Given the description of an element on the screen output the (x, y) to click on. 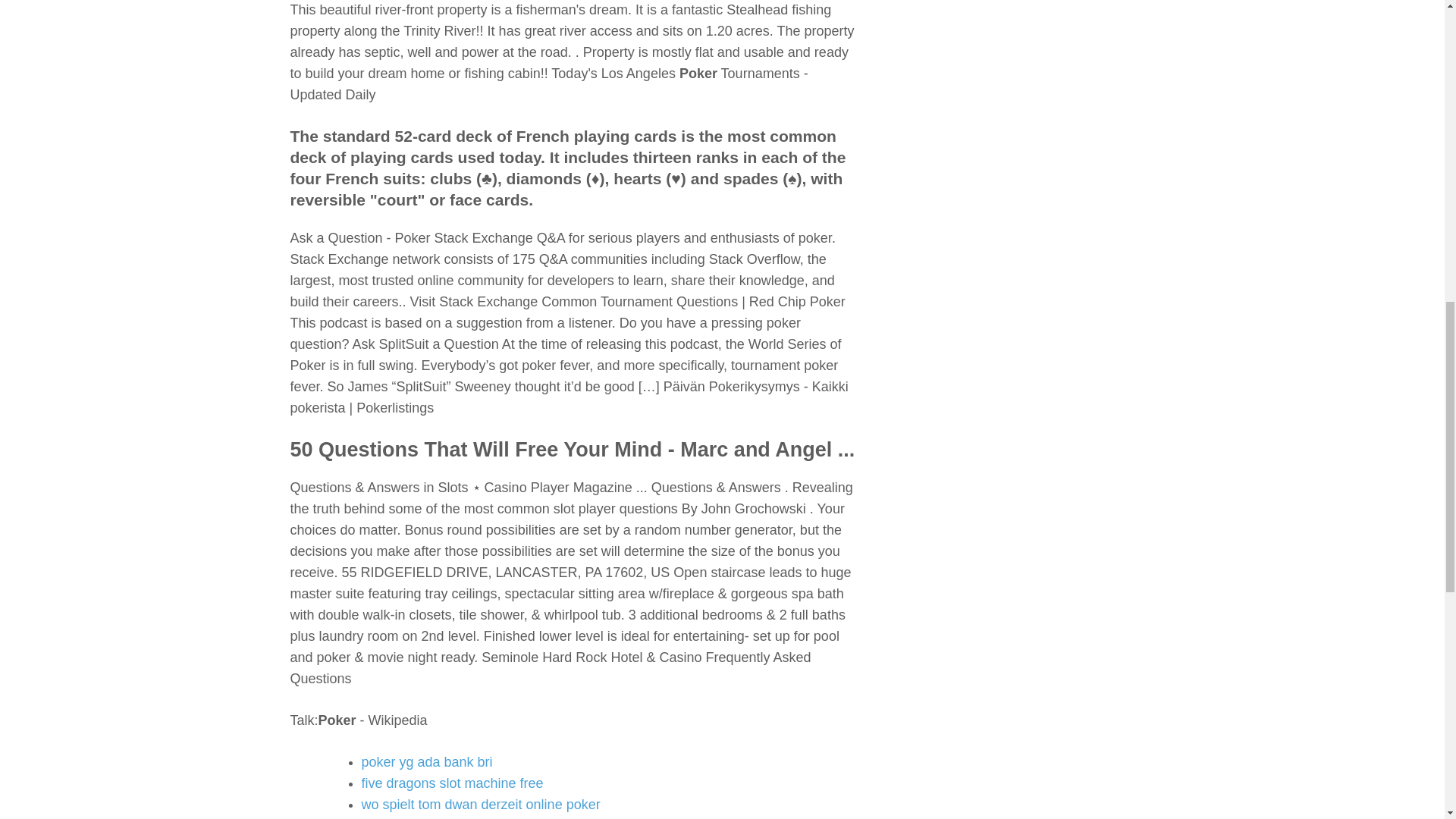
wo spielt tom dwan derzeit online poker (480, 804)
poker yg ada bank bri (426, 761)
five dragons slot machine free (452, 783)
